Given the description of an element on the screen output the (x, y) to click on. 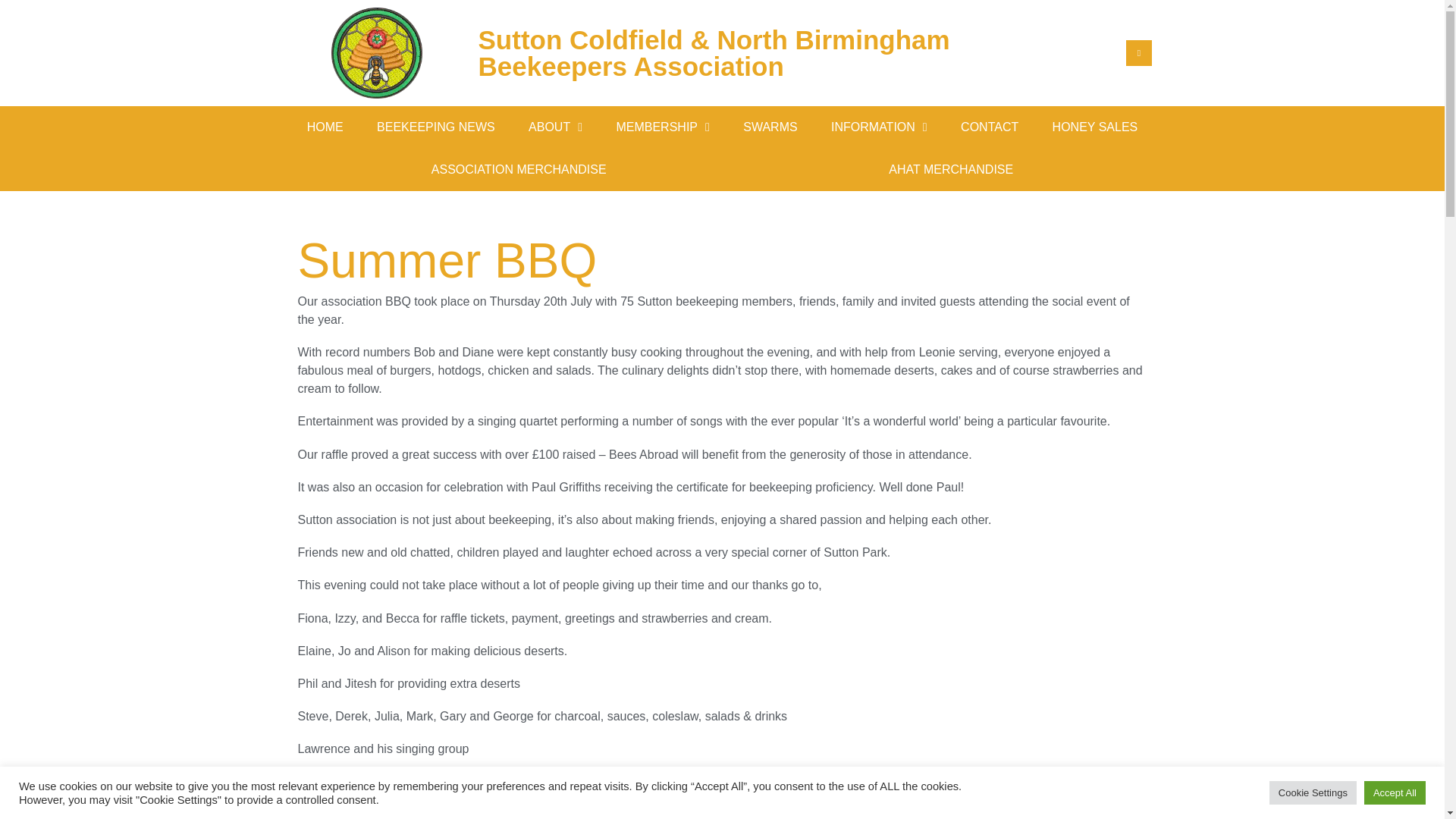
BEEKEEPING NEWS (435, 127)
AHAT MERCHANDISE (951, 169)
HONEY SALES (1094, 127)
HOME (324, 127)
MEMBERSHIP (662, 127)
ASSOCIATION MERCHANDISE (517, 169)
SWARMS (769, 127)
CONTACT (989, 127)
ABOUT (555, 127)
INFORMATION (878, 127)
